Given the description of an element on the screen output the (x, y) to click on. 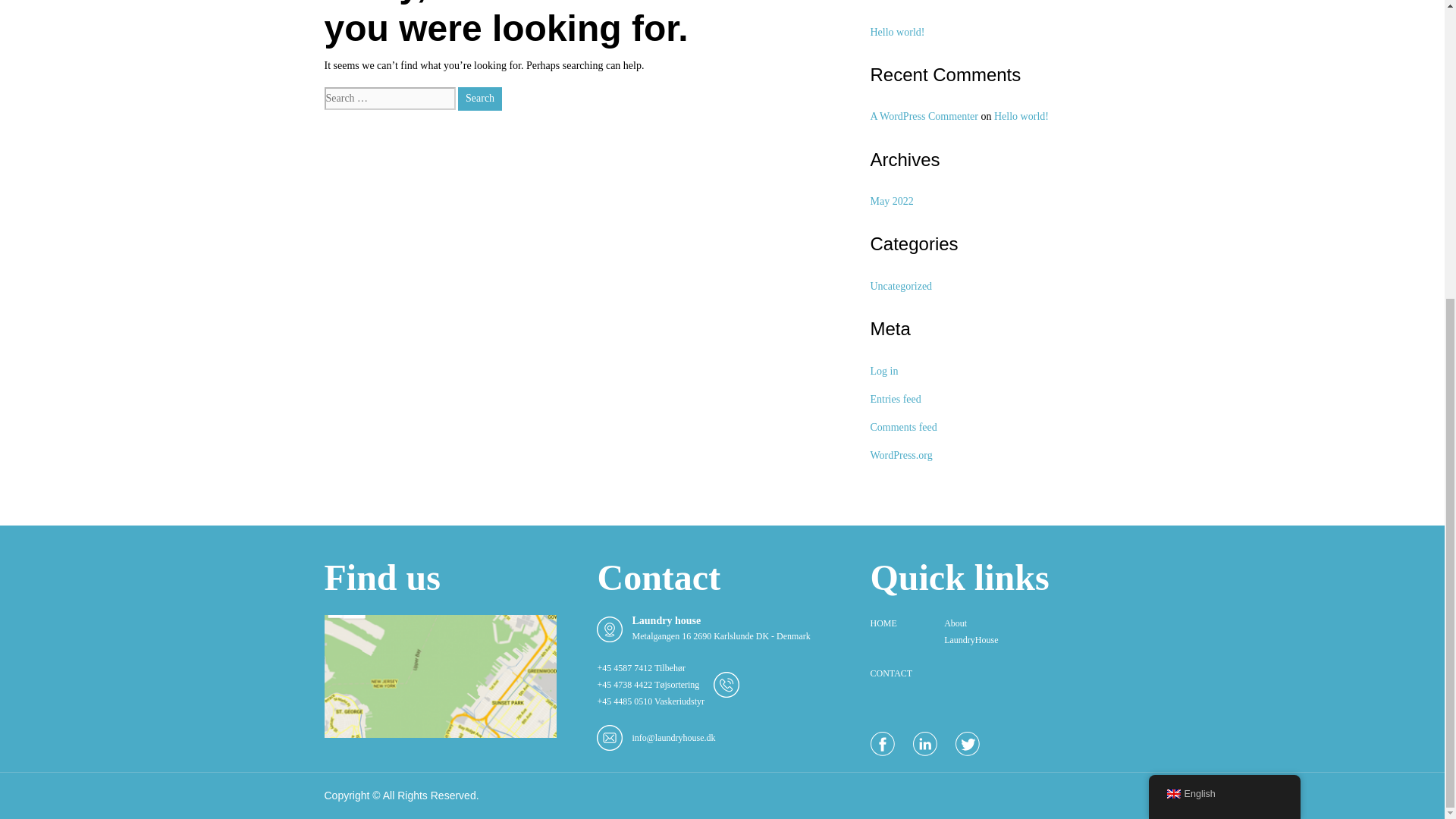
Search (480, 98)
WordPress.org (901, 455)
Uncategorized (901, 285)
Entries feed (895, 398)
About LaundryHouse (970, 631)
HOME (882, 623)
Search (480, 98)
English (1224, 331)
May 2022 (892, 201)
Comments feed (903, 427)
CONTACT (890, 673)
Search (480, 98)
A WordPress Commenter (924, 116)
Log in (884, 370)
Hello world! (897, 31)
